Given the description of an element on the screen output the (x, y) to click on. 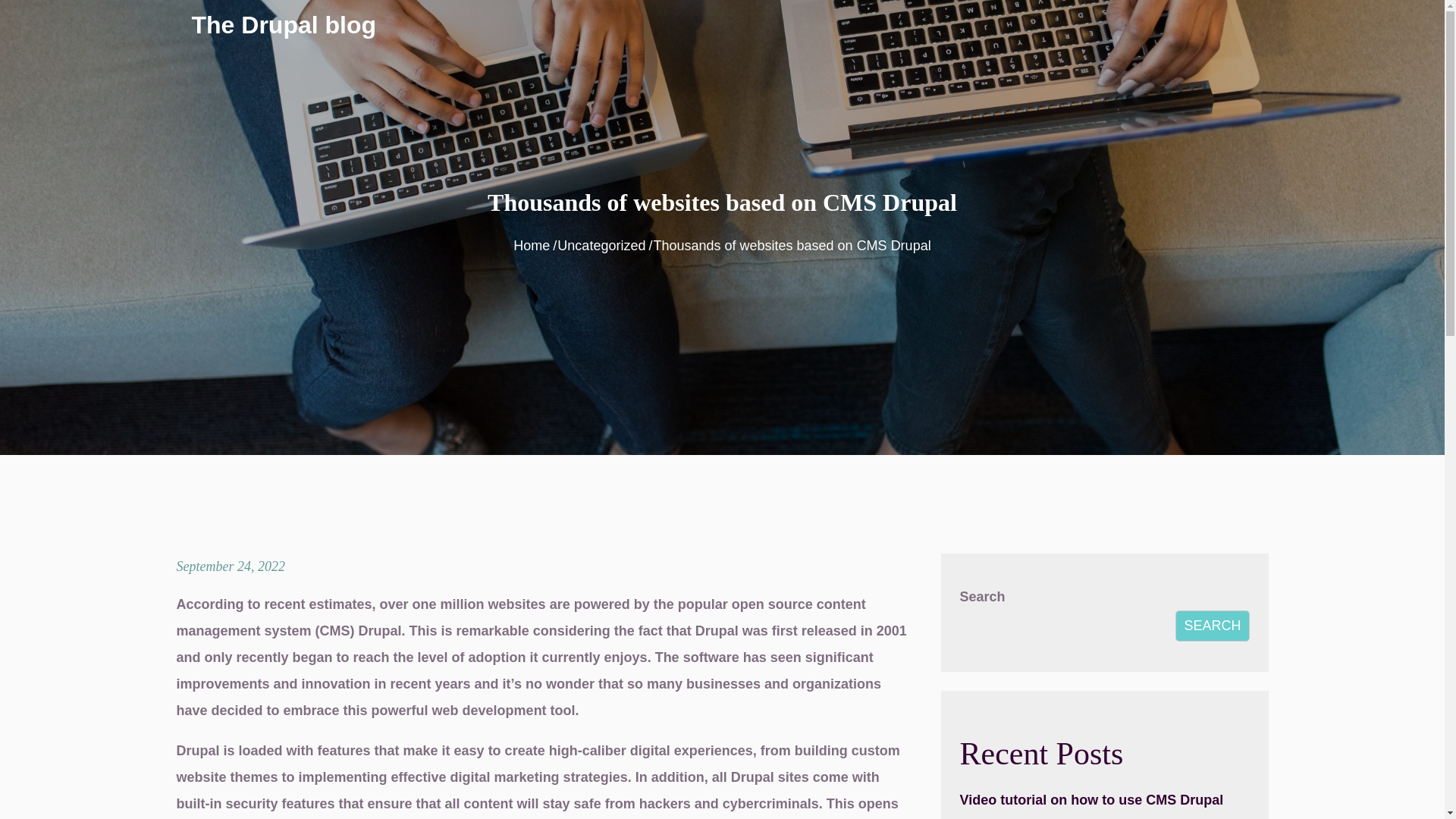
The Drupal blog (284, 24)
SEARCH (1211, 625)
Home (531, 245)
Uncategorized (601, 245)
Video tutorial on how to use CMS Drupal (1091, 799)
September 24, 2022 (229, 566)
